Given the description of an element on the screen output the (x, y) to click on. 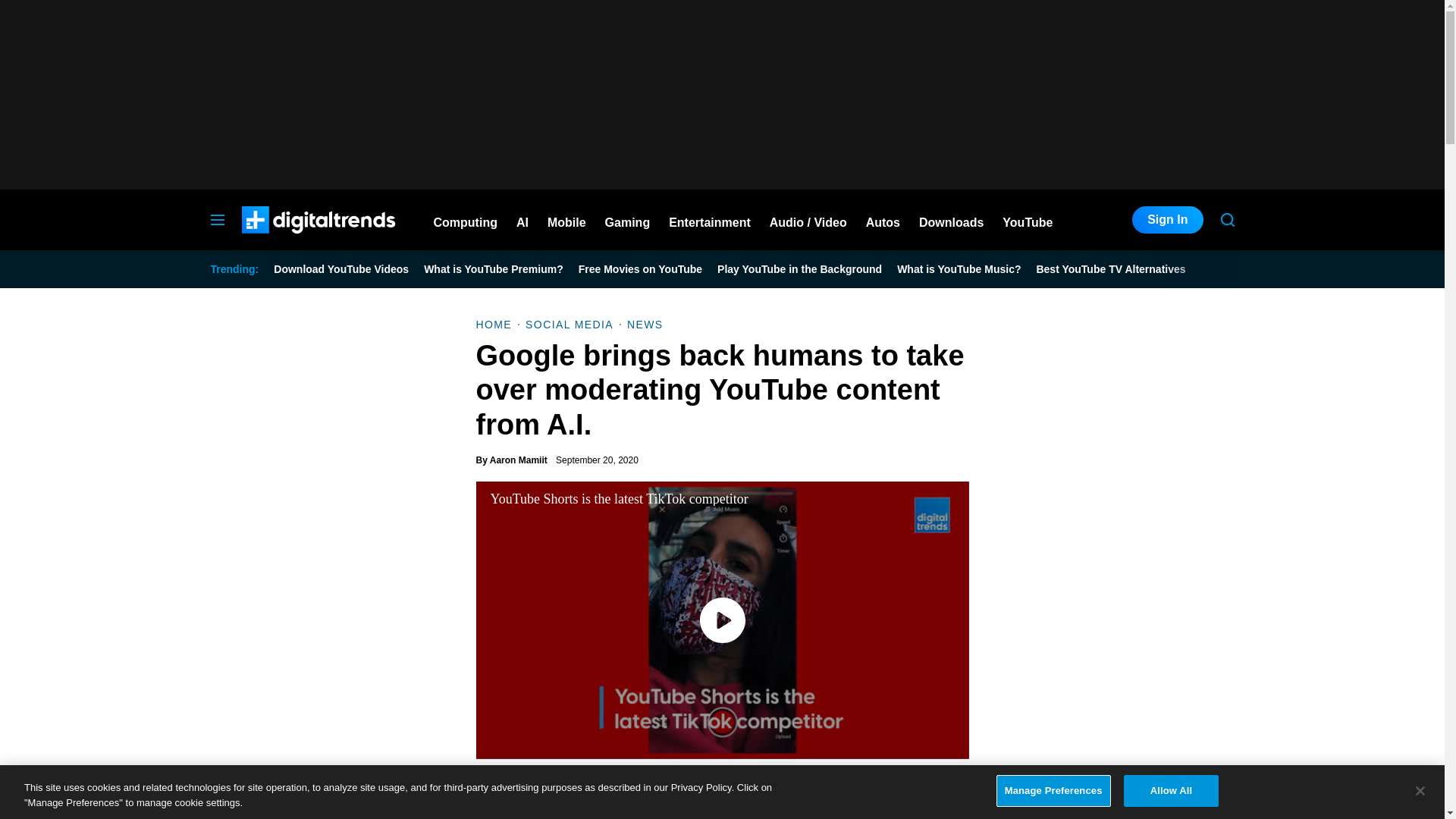
Mobile (566, 219)
Entertainment (709, 219)
Sign In (1167, 219)
YouTube (1027, 219)
Computing (465, 219)
Gaming (627, 219)
Autos (882, 219)
AI (522, 219)
Downloads (951, 219)
